Given the description of an element on the screen output the (x, y) to click on. 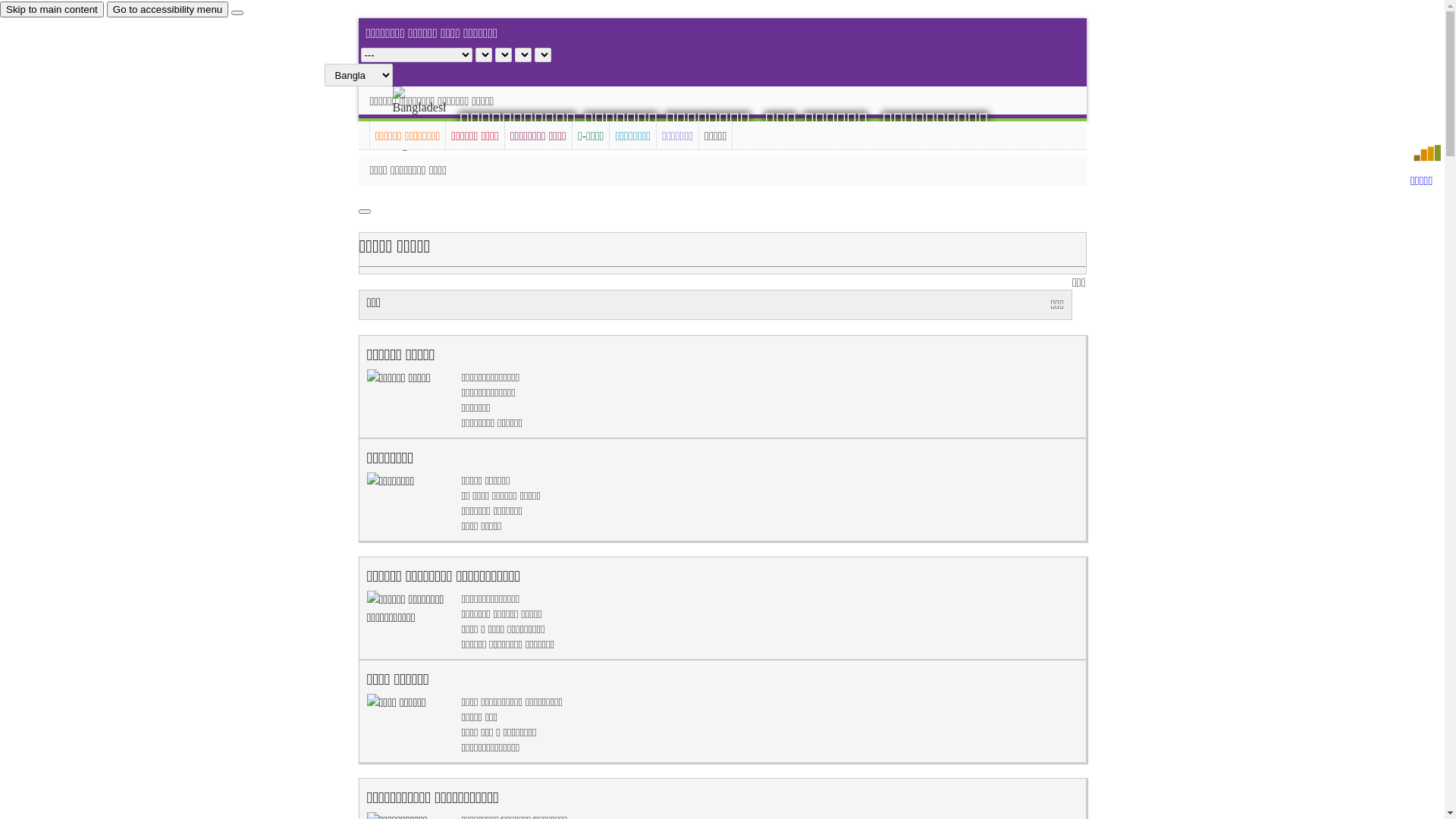
Skip to main content Element type: text (51, 9)
Go to accessibility menu Element type: text (167, 9)

                
             Element type: hover (431, 119)
close Element type: hover (237, 12)
